Given the description of an element on the screen output the (x, y) to click on. 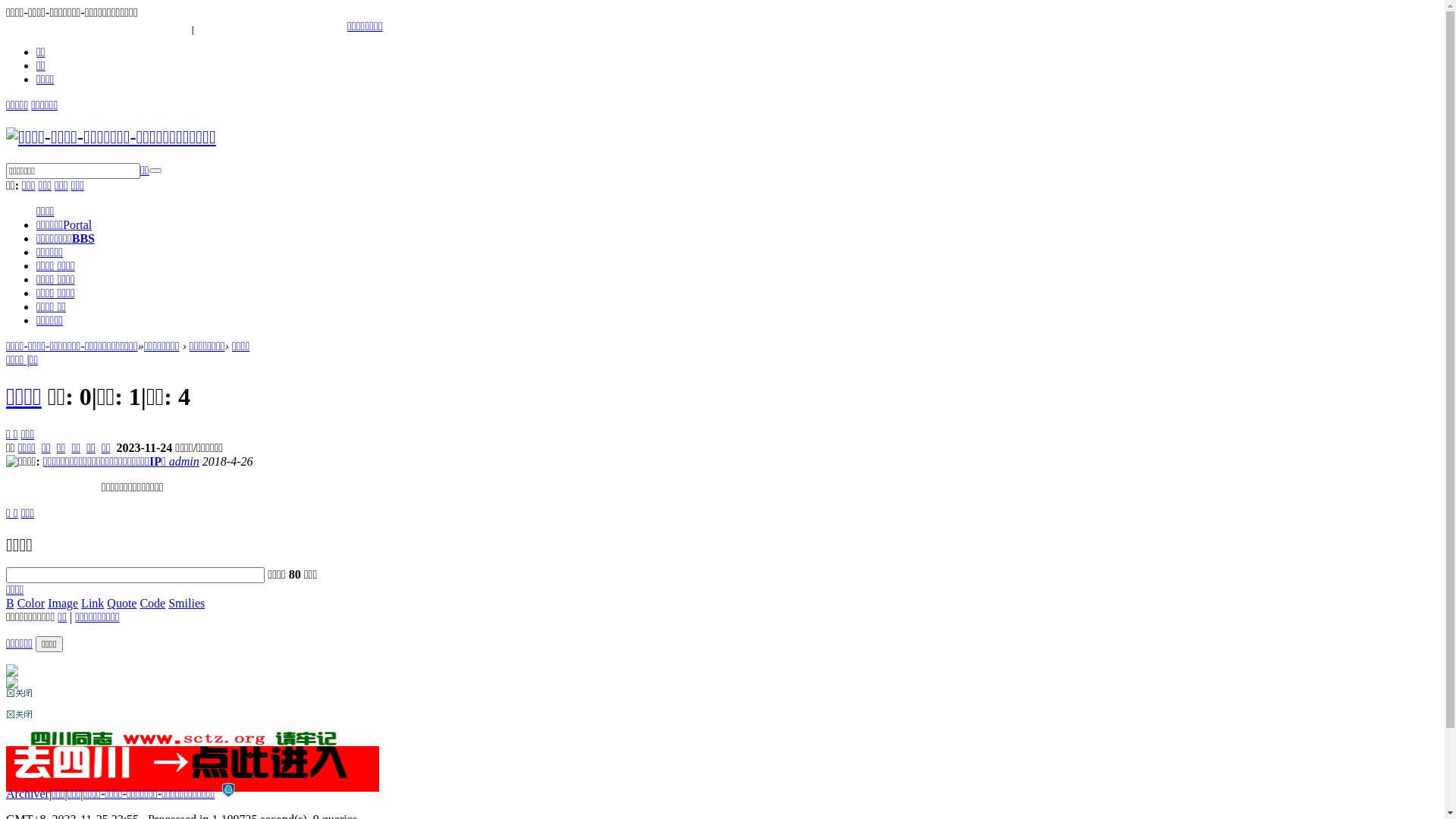
Quote Element type: text (121, 602)
admin Element type: text (184, 461)
Archiver Element type: text (27, 793)
Link Element type: text (92, 602)
Color Element type: text (30, 602)
B Element type: text (10, 602)
true Element type: text (155, 170)
Image Element type: text (62, 602)
Code Element type: text (152, 602)
Smilies Element type: text (186, 602)
